Given the description of an element on the screen output the (x, y) to click on. 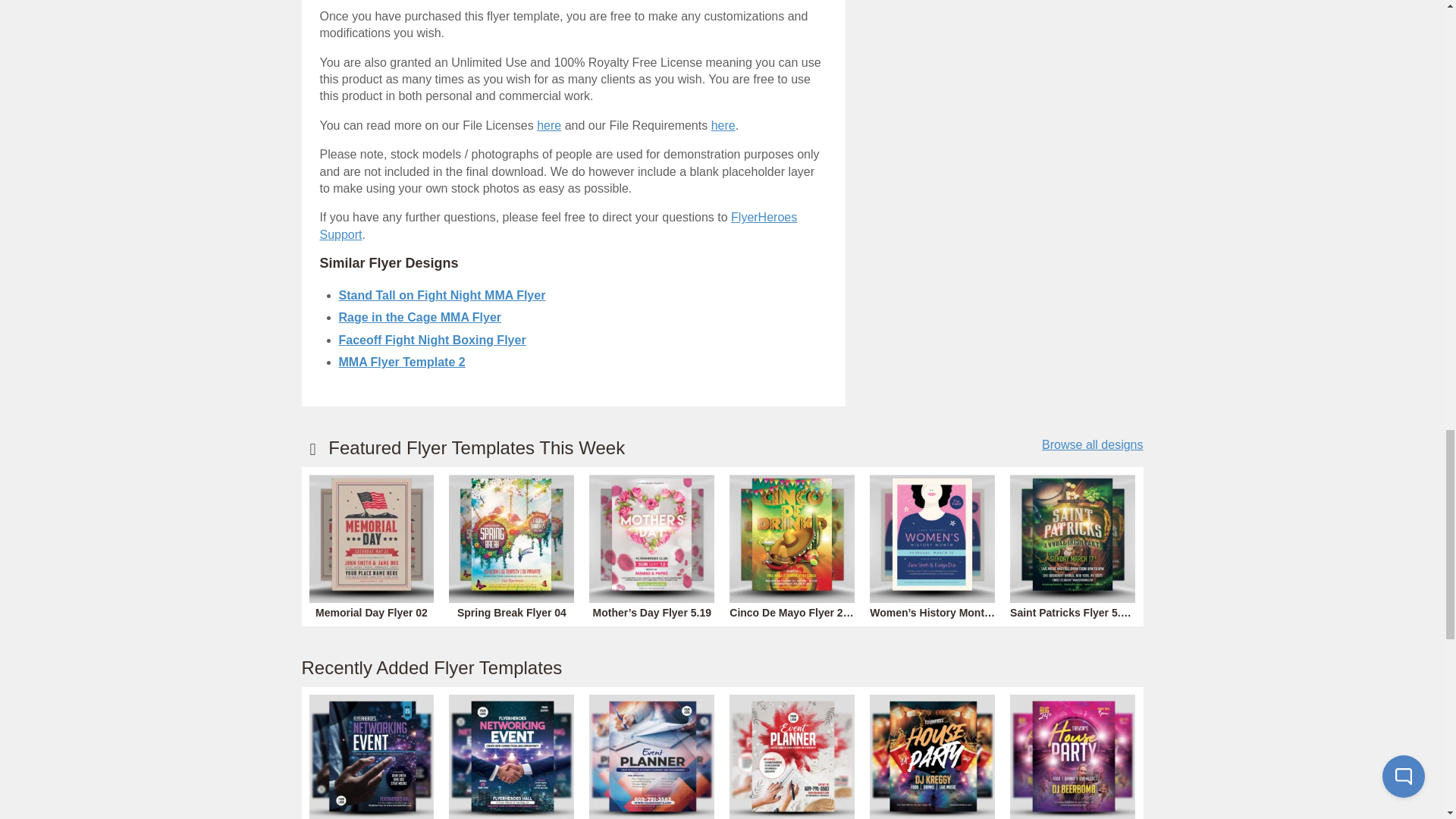
MMA Flyer Template 2 (400, 361)
Stand Tall on Fight Night MMA Flyer (440, 295)
File (723, 124)
FlyerHeroes (558, 225)
File (548, 124)
Rage in the Cage MMA Flyer (418, 317)
Faceoff Fight Night Boxing Flyer (431, 339)
